Given the description of an element on the screen output the (x, y) to click on. 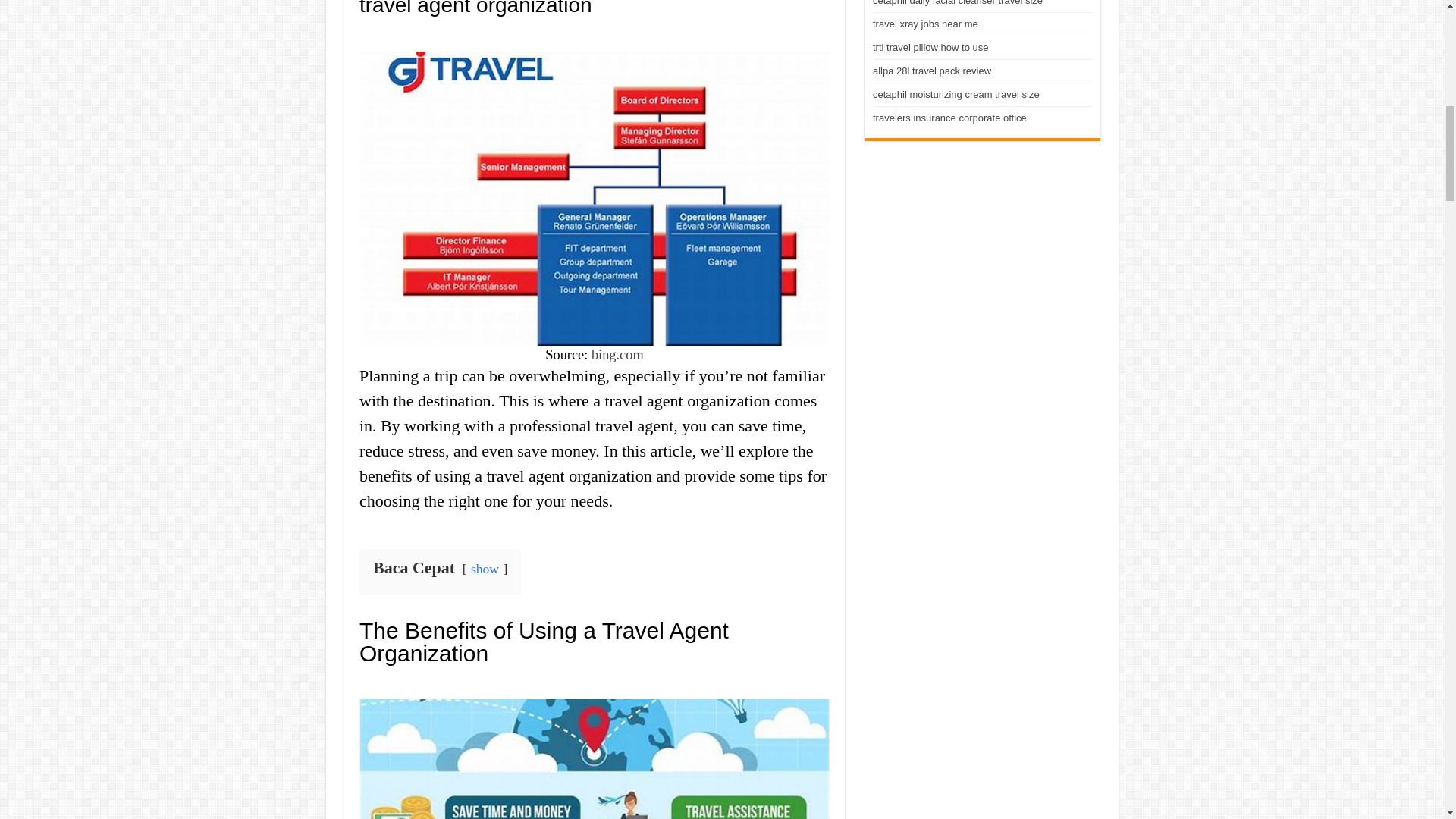
trtl travel pillow how to use (930, 47)
cetaphil daily facial cleanser travel size (957, 2)
bing.com (617, 354)
show (484, 568)
travel xray jobs near me (925, 23)
